Given the description of an element on the screen output the (x, y) to click on. 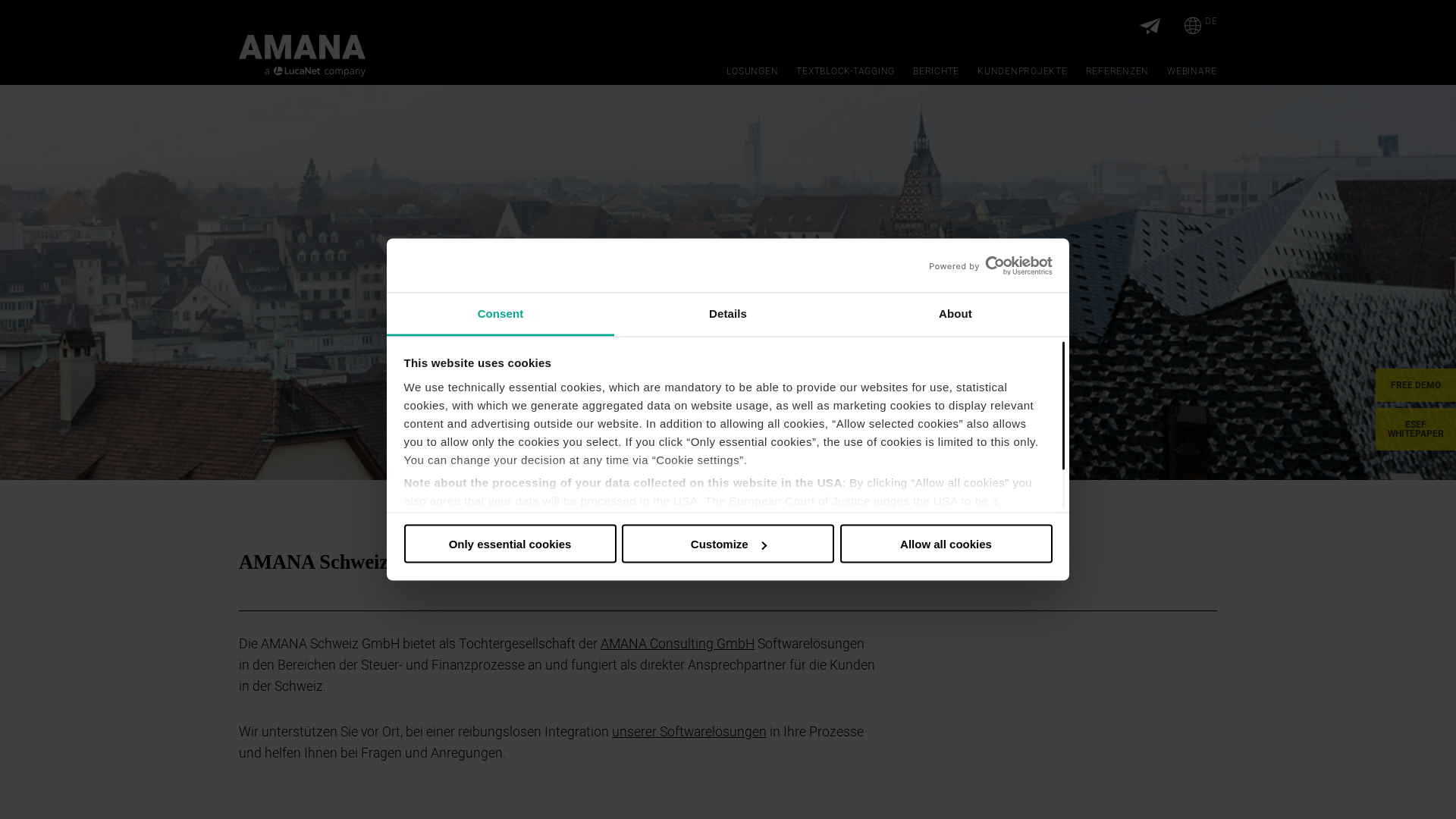
REFERENZEN Element type: text (1117, 71)
Details Element type: text (727, 313)
Allow all cookies Element type: text (946, 543)
BERICHTE Element type: text (936, 71)
KUNDENPROJEKTE Element type: text (1022, 71)
Consent Element type: text (500, 313)
DE Element type: text (1200, 25)
About Element type: text (955, 313)
WEBINARE Element type: text (1192, 71)
AMANA Consulting GmbH Element type: text (677, 643)
Customize Element type: text (727, 543)
TEXTBLOCK-TAGGING Element type: text (845, 71)
Only essential cookies Element type: text (509, 543)
Kontakt Element type: hover (1149, 26)
